Given the description of an element on the screen output the (x, y) to click on. 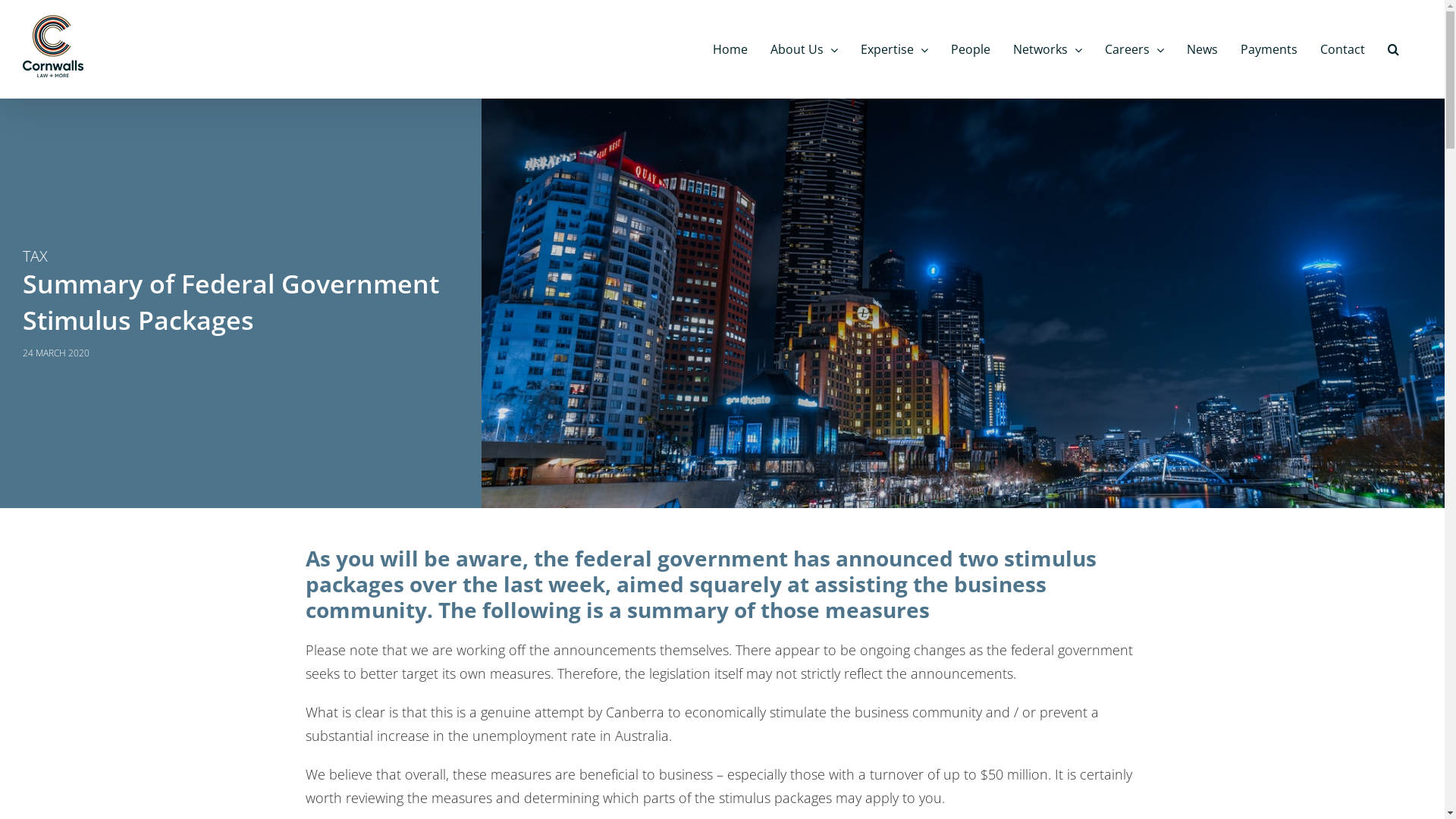
Expertise Element type: text (894, 49)
News Element type: text (1201, 49)
Networks Element type: text (1047, 49)
Contact Element type: text (1342, 49)
Search Element type: hover (1393, 49)
About Us Element type: text (803, 49)
Home Element type: text (729, 49)
People Element type: text (970, 49)
Careers Element type: text (1134, 49)
Payments Element type: text (1268, 49)
